Given the description of an element on the screen output the (x, y) to click on. 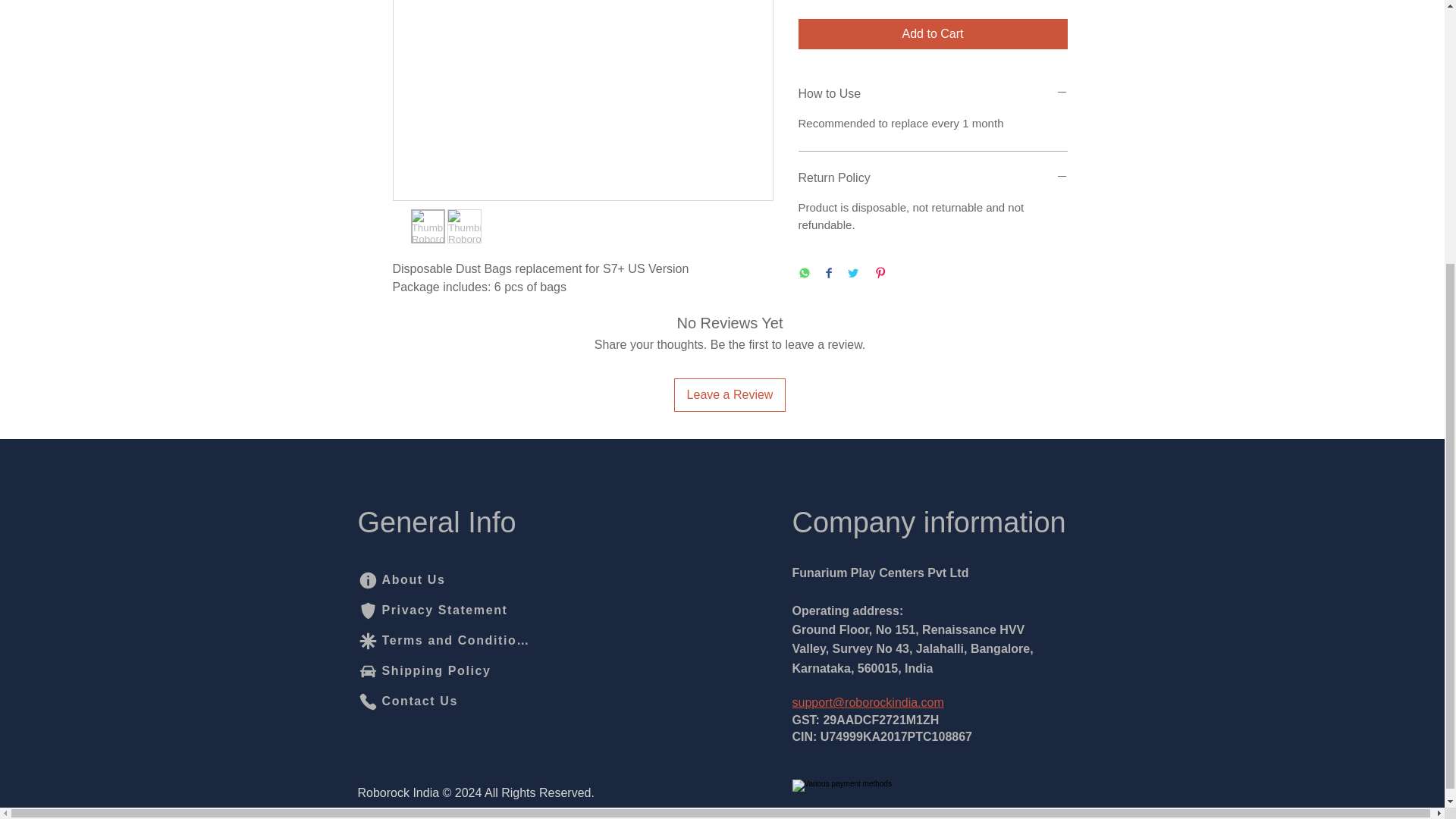
Leave a Review (730, 394)
Return Policy (932, 177)
Add to Cart (932, 33)
Shipping Policy (433, 671)
About Us (433, 580)
Terms and Conditions (444, 640)
Privacy Statement (433, 610)
Contact Us (410, 701)
How to Use (932, 93)
